Given the description of an element on the screen output the (x, y) to click on. 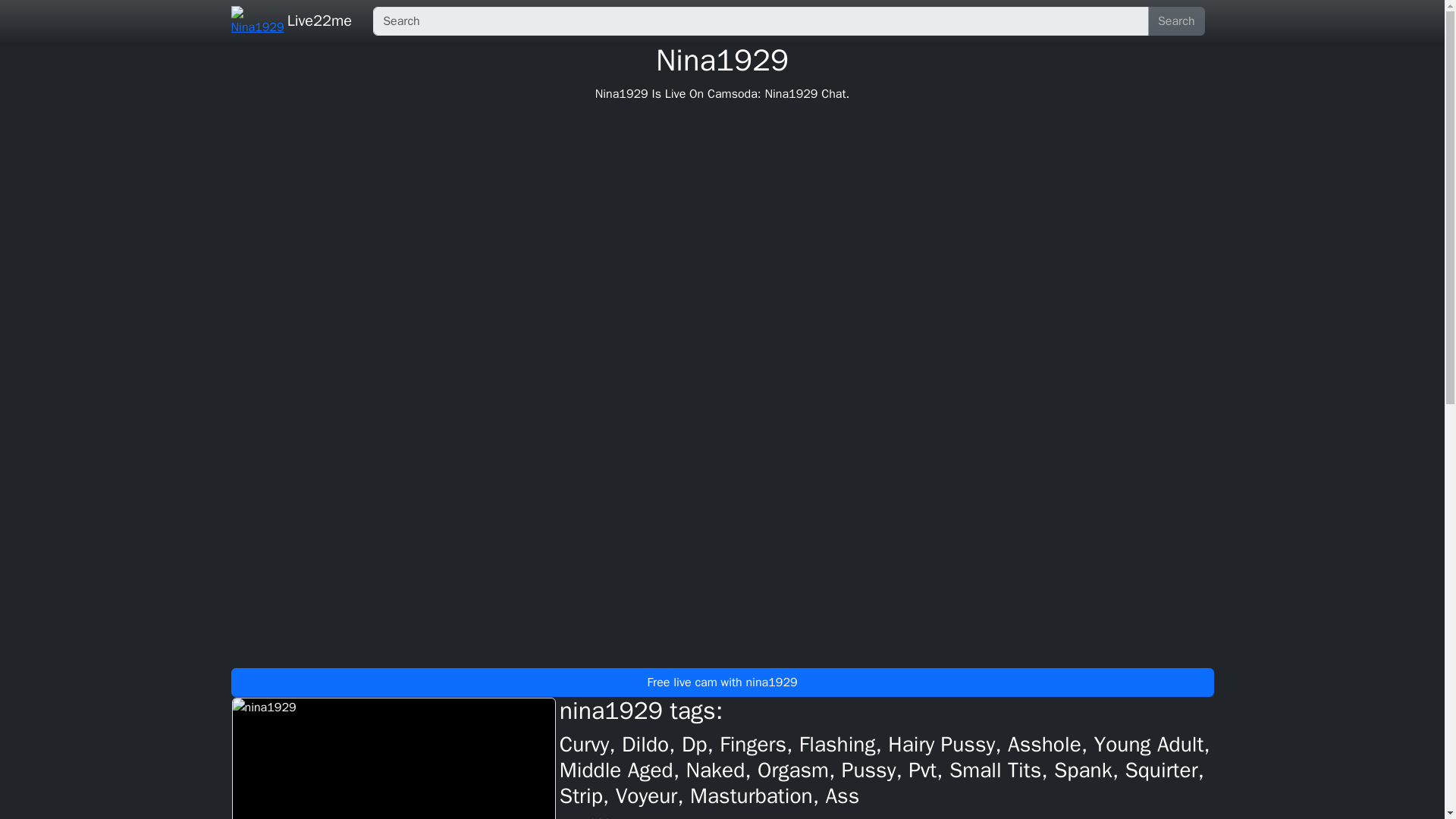
Free live cam with nina1929 (721, 682)
Live22me (319, 20)
Search (1176, 21)
